Given the description of an element on the screen output the (x, y) to click on. 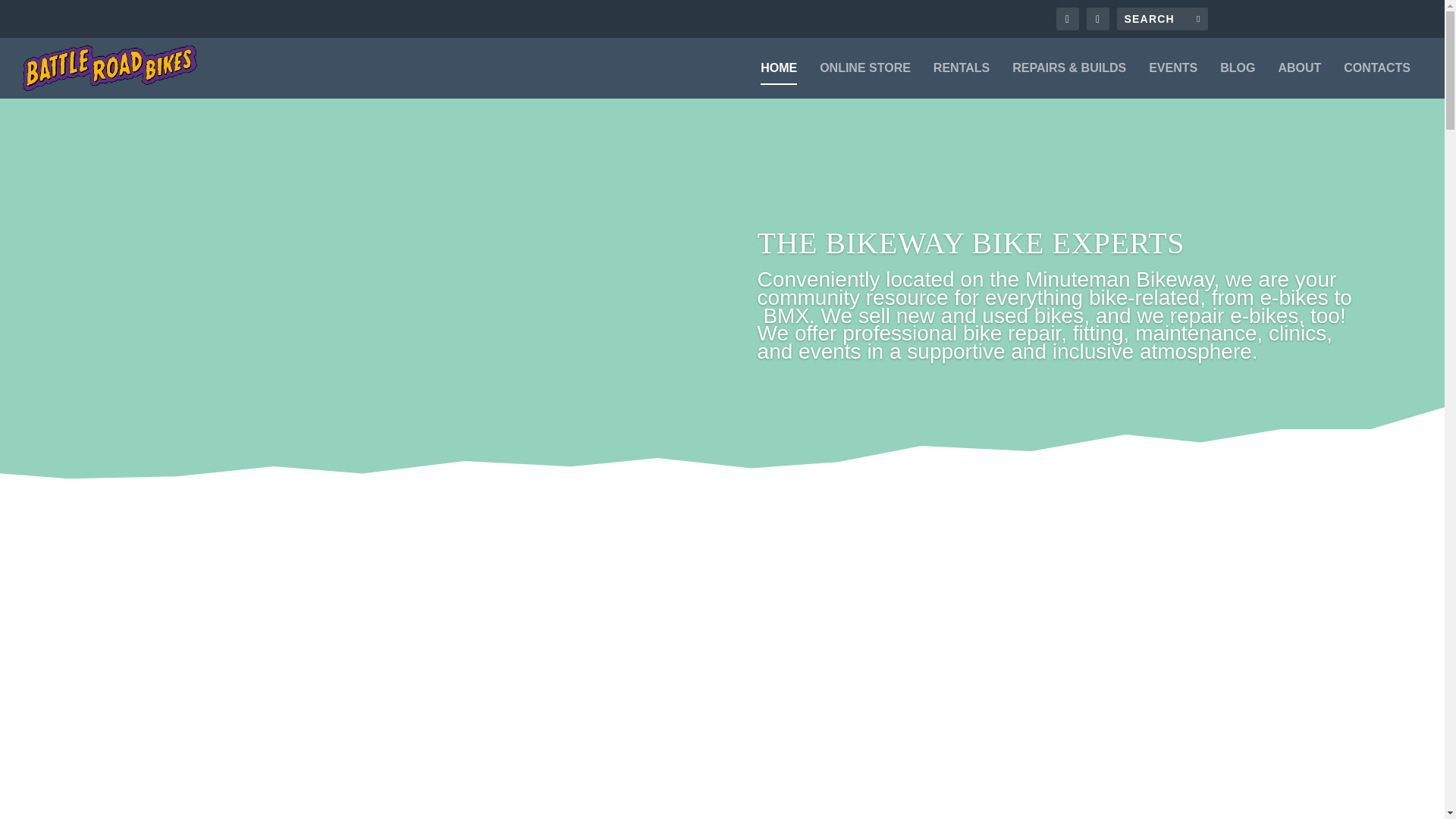
HOME (778, 80)
EVENTS (1172, 80)
CONTACTS (1376, 80)
ABOUT (1299, 80)
BLOG (1237, 80)
RENTALS (961, 80)
ONLINE STORE (865, 80)
Search for: (1161, 18)
